Given the description of an element on the screen output the (x, y) to click on. 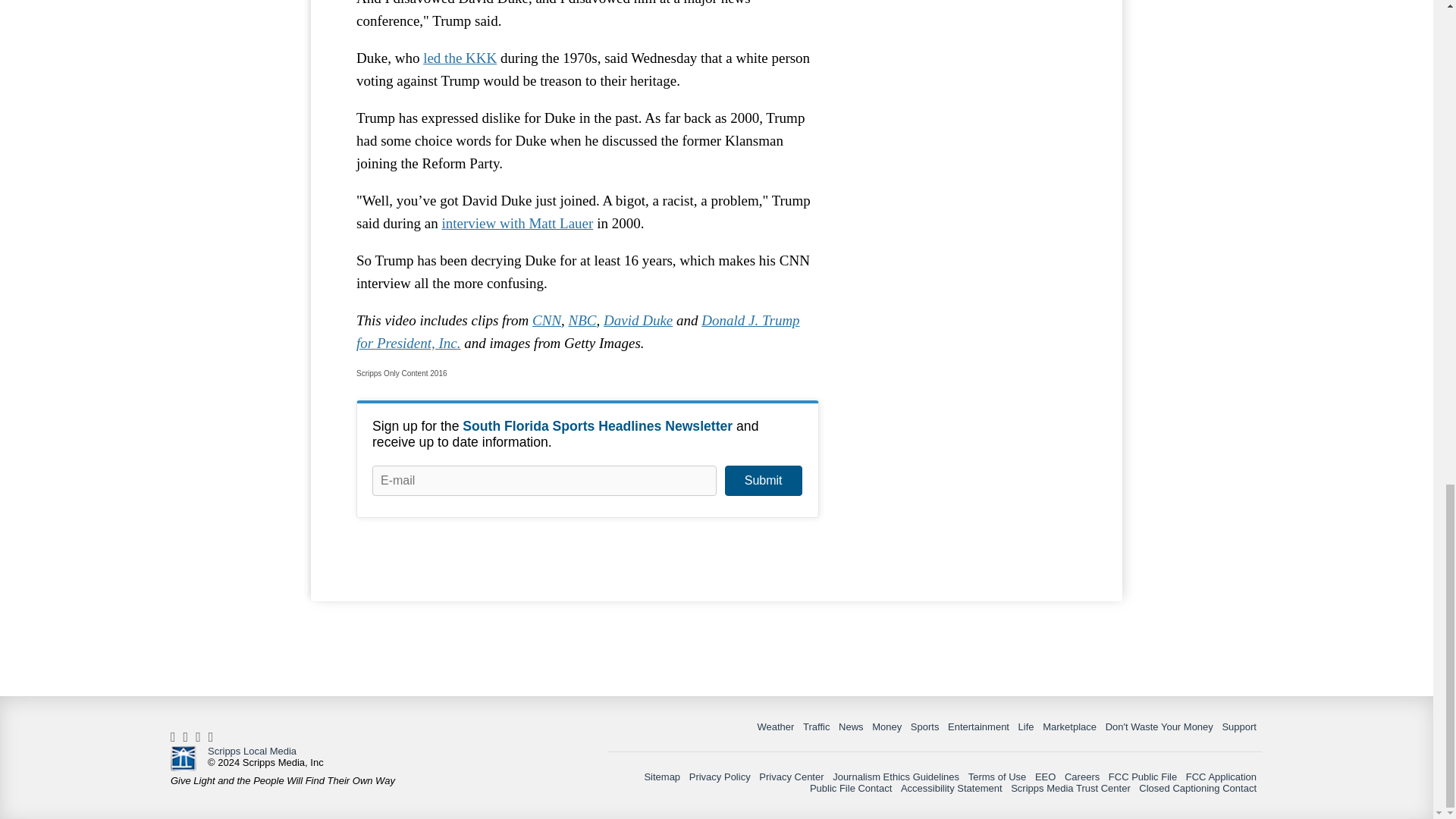
Submit (763, 481)
